Given the description of an element on the screen output the (x, y) to click on. 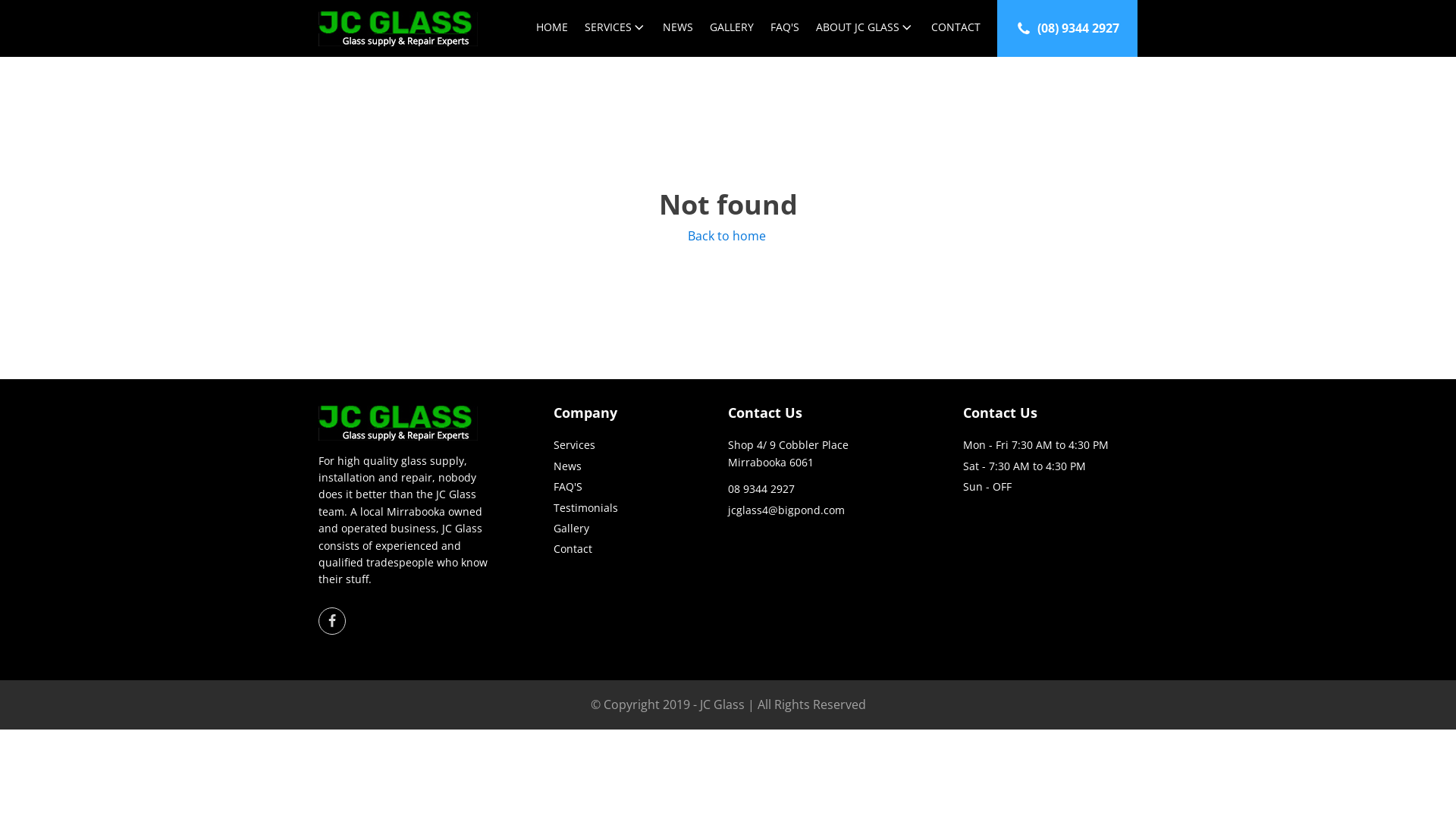
NEWS Element type: text (677, 28)
jcglass4@bigpond.com Element type: text (786, 510)
Gallery Element type: text (571, 528)
Services Element type: text (574, 444)
FAQ'S Element type: text (567, 486)
CONTACT Element type: text (955, 28)
GALLERY Element type: text (731, 28)
News Element type: text (567, 466)
HOME Element type: text (551, 28)
FAQ'S Element type: text (784, 28)
Contact Element type: text (572, 548)
SERVICES Element type: text (615, 28)
Testimonials Element type: text (585, 507)
Shop 4/ 9 Cobbler Place
Mirrabooka 6061 Element type: text (788, 453)
Back to home  Element type: text (727, 236)
(08) 9344 2927 Element type: text (1067, 28)
08 9344 2927 Element type: text (761, 488)
ABOUT JC GLASS Element type: text (864, 28)
